Given the description of an element on the screen output the (x, y) to click on. 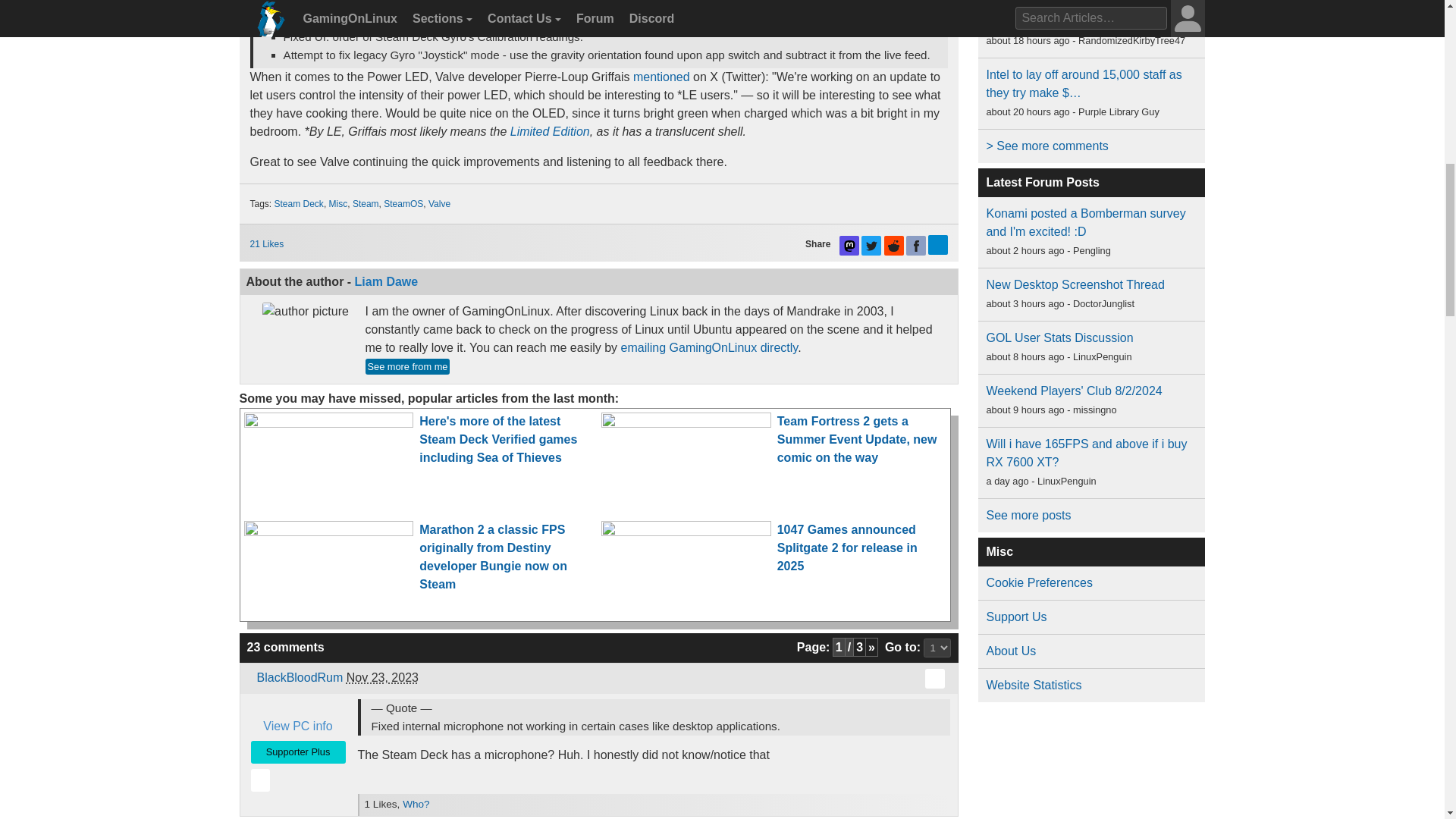
Share to Mastodon (849, 245)
Link to this comment (934, 678)
